Given the description of an element on the screen output the (x, y) to click on. 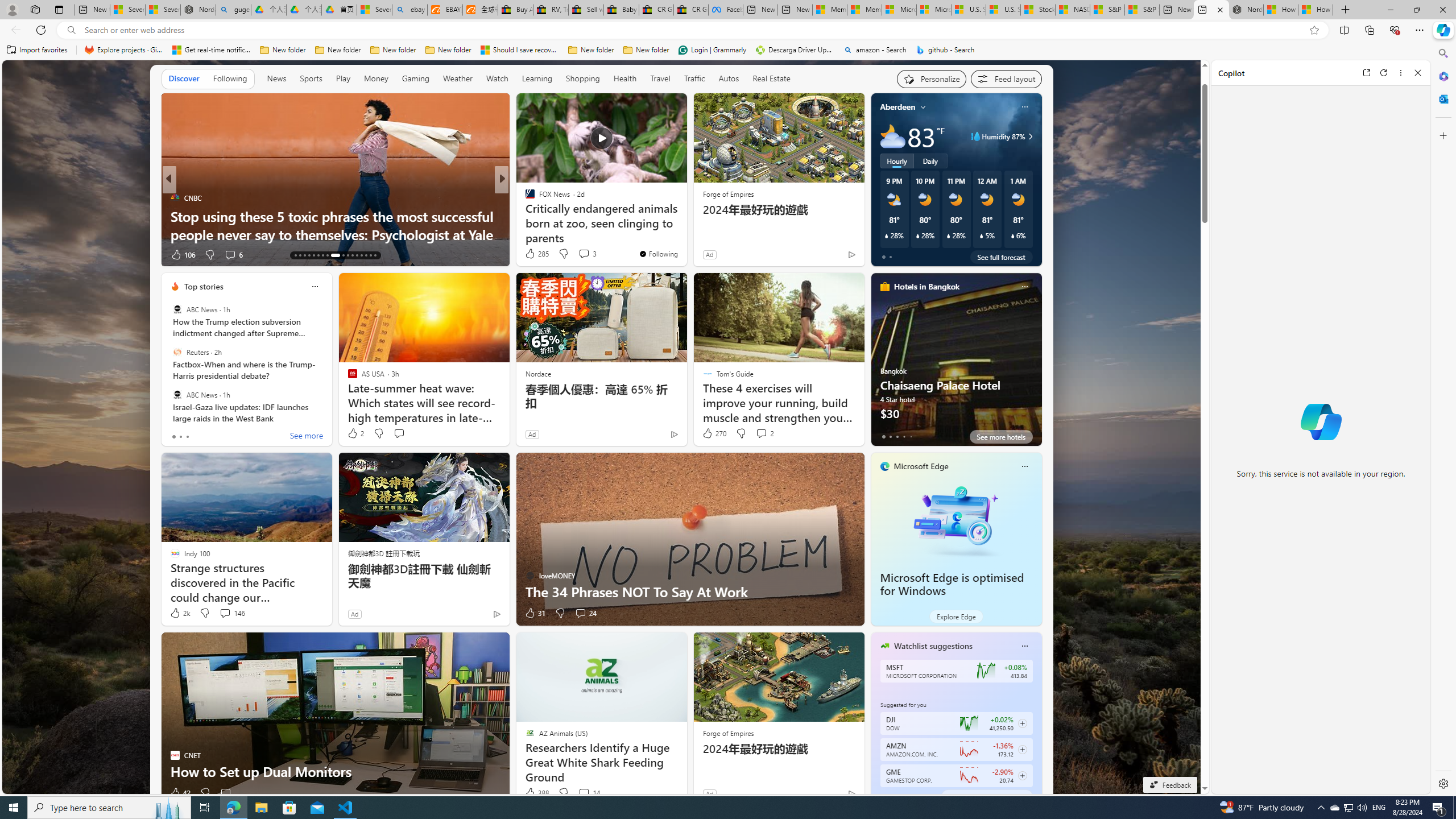
tab-4 (910, 795)
tab-1 (889, 795)
My location (922, 106)
AutomationID: tab-23 (347, 255)
Travel (660, 78)
2k Like (179, 612)
